Given the description of an element on the screen output the (x, y) to click on. 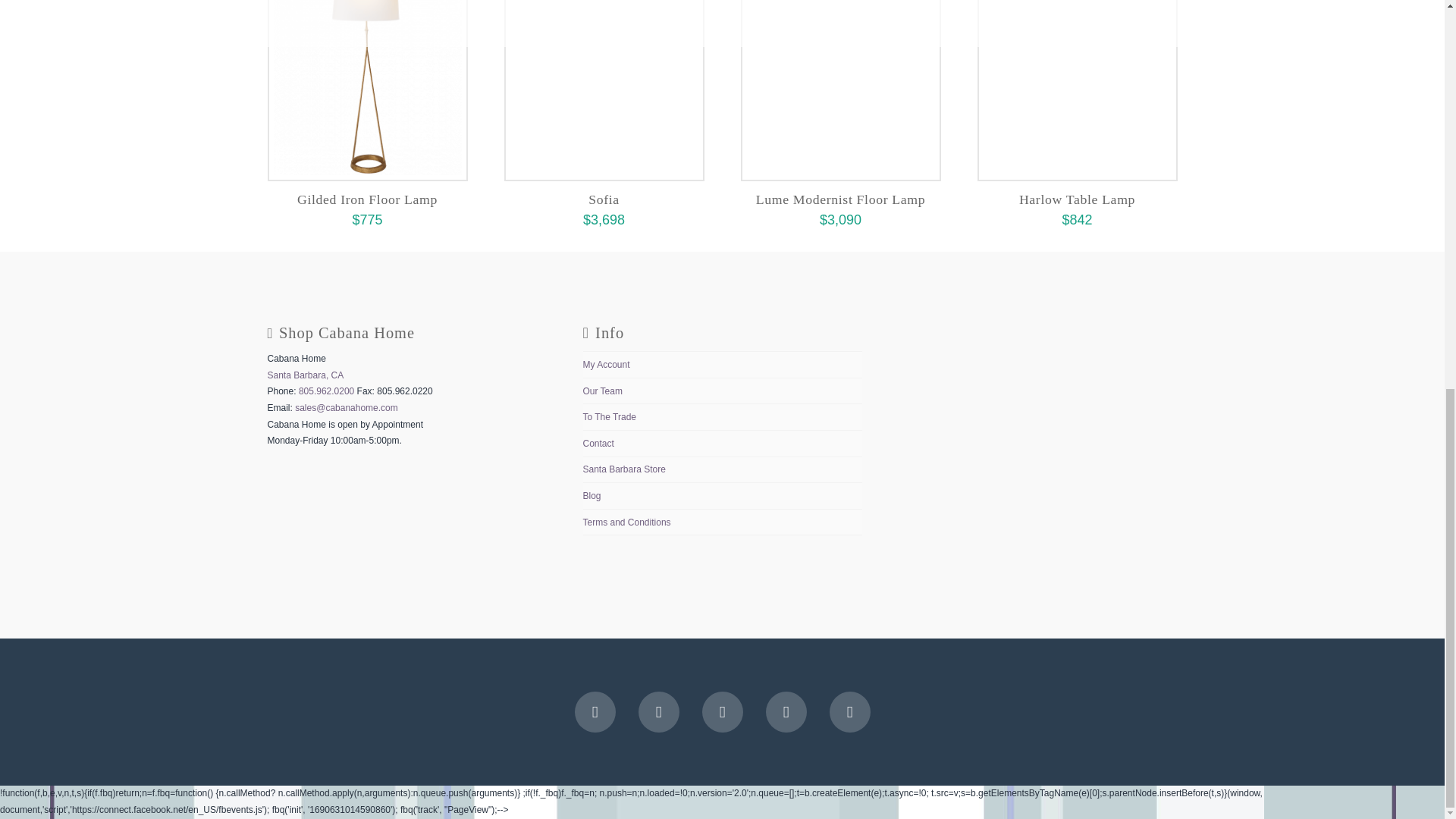
Facebook (595, 711)
Instagram (785, 711)
YouTube (721, 711)
Twitter (659, 711)
Pinterest (849, 711)
